Given the description of an element on the screen output the (x, y) to click on. 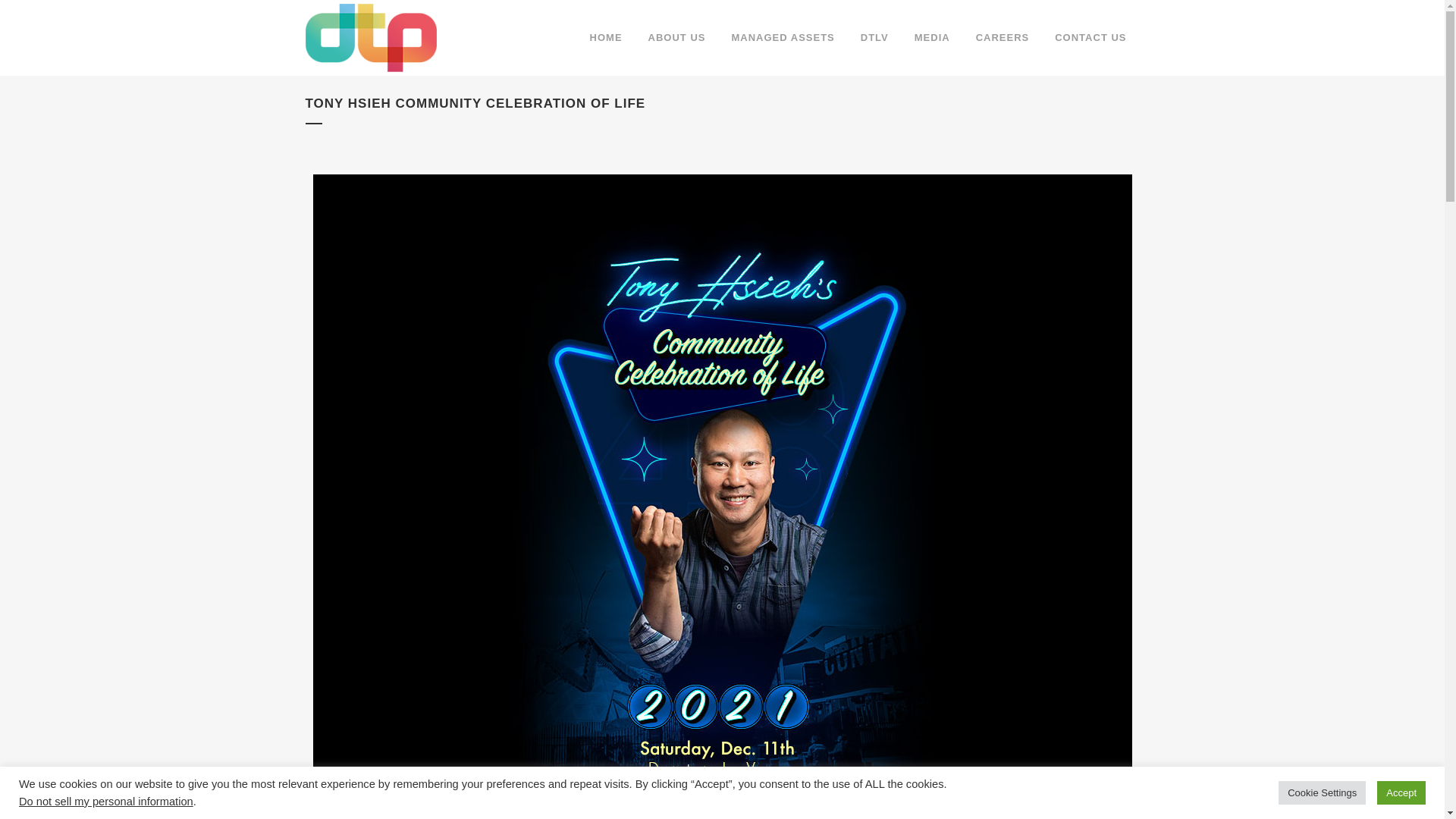
CAREERS (1002, 38)
ABOUT US (676, 38)
MANAGED ASSETS (782, 38)
CONTACT US (1090, 38)
